Given the description of an element on the screen output the (x, y) to click on. 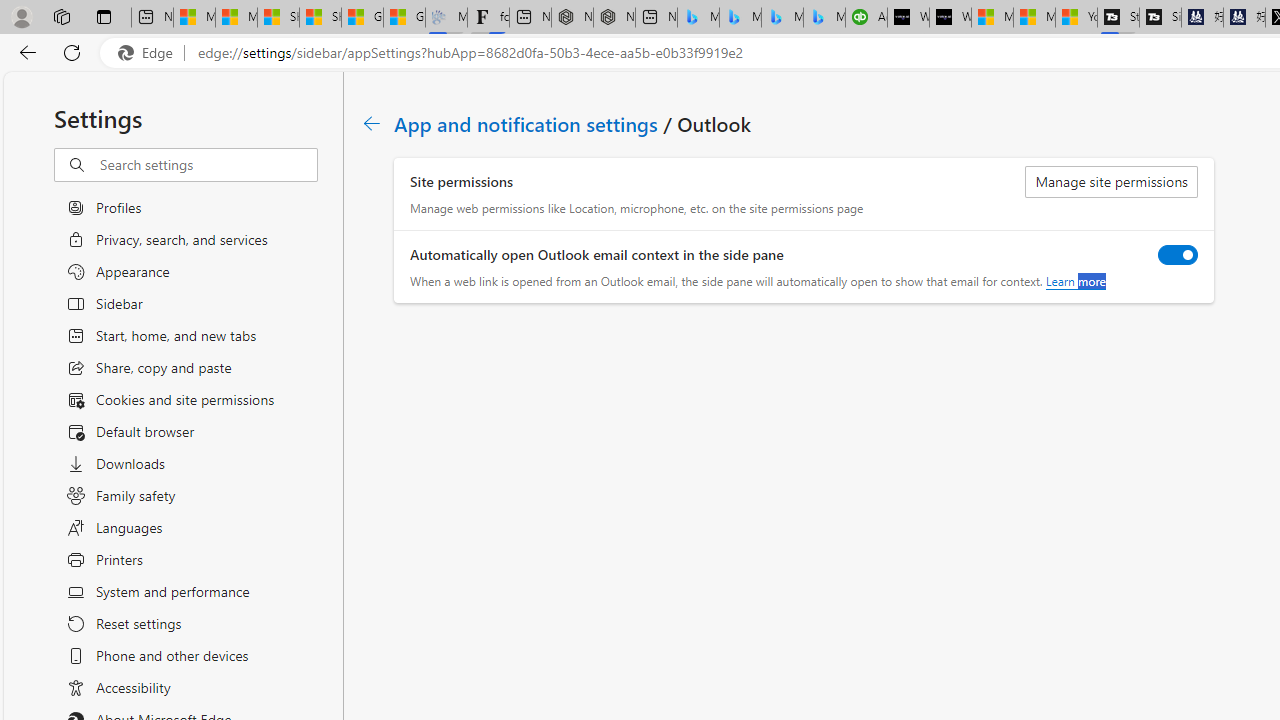
Manage site permissions (1111, 182)
Accounting Software for Accountants, CPAs and Bookkeepers (866, 17)
Go back to App and notification settings page. (372, 123)
Class: c01188 (371, 123)
Learn more (1074, 281)
